Given the description of an element on the screen output the (x, y) to click on. 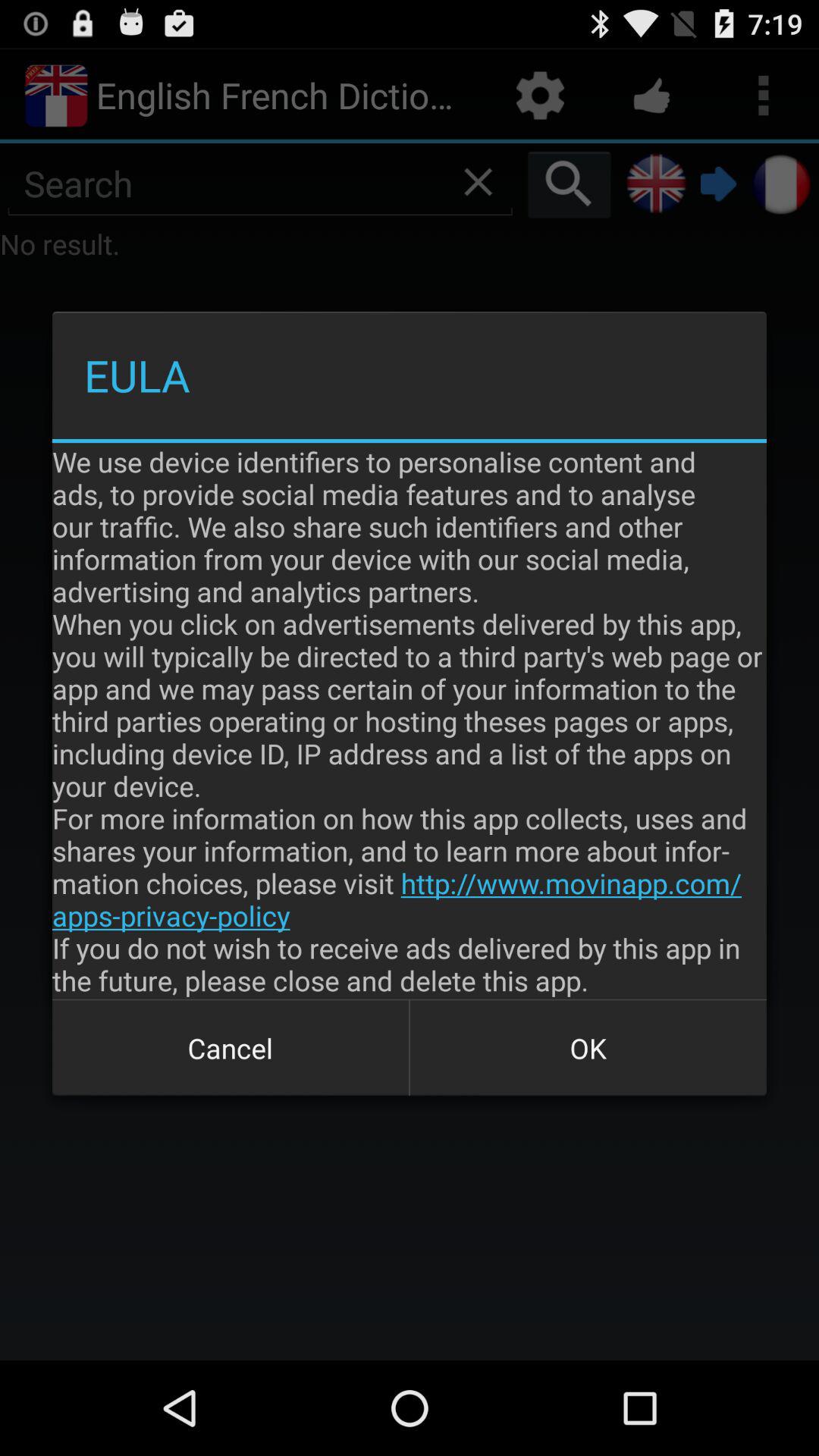
open icon at the bottom left corner (230, 1047)
